Given the description of an element on the screen output the (x, y) to click on. 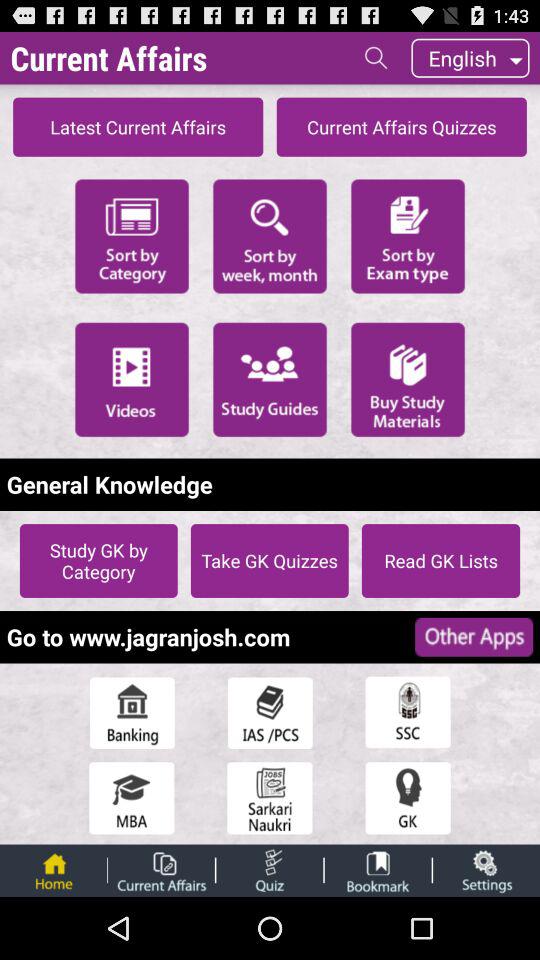
view other apps (474, 636)
